Given the description of an element on the screen output the (x, y) to click on. 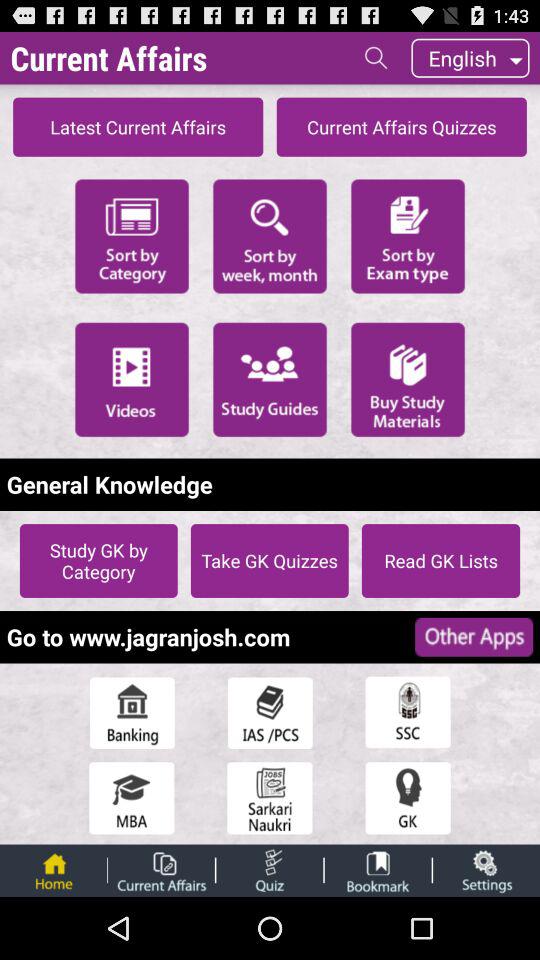
view other apps (474, 636)
